Given the description of an element on the screen output the (x, y) to click on. 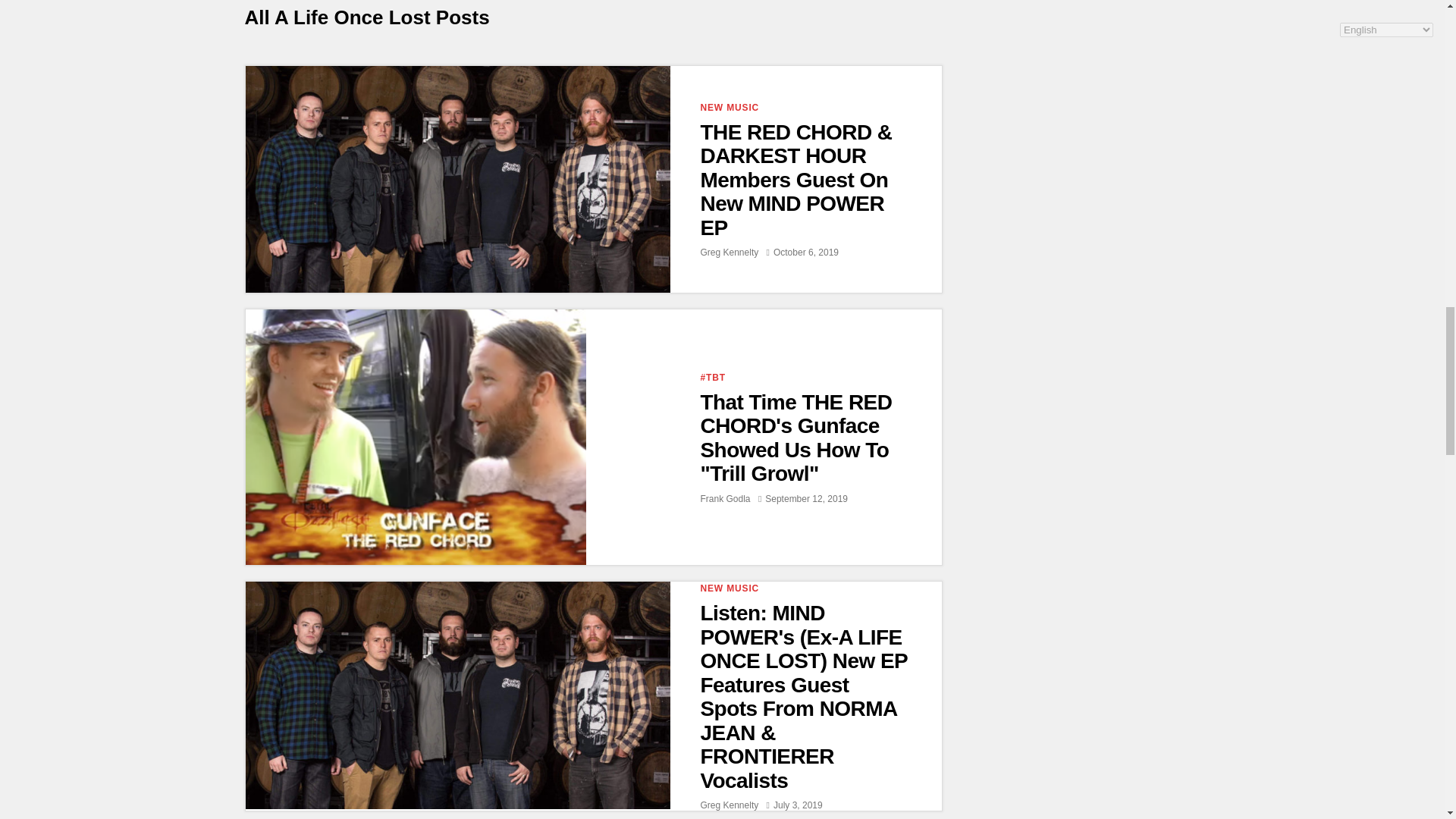
Posts by Greg Kennelty (729, 252)
Posts by Greg Kennelty (729, 805)
Posts by Frank Godla (725, 498)
